Given the description of an element on the screen output the (x, y) to click on. 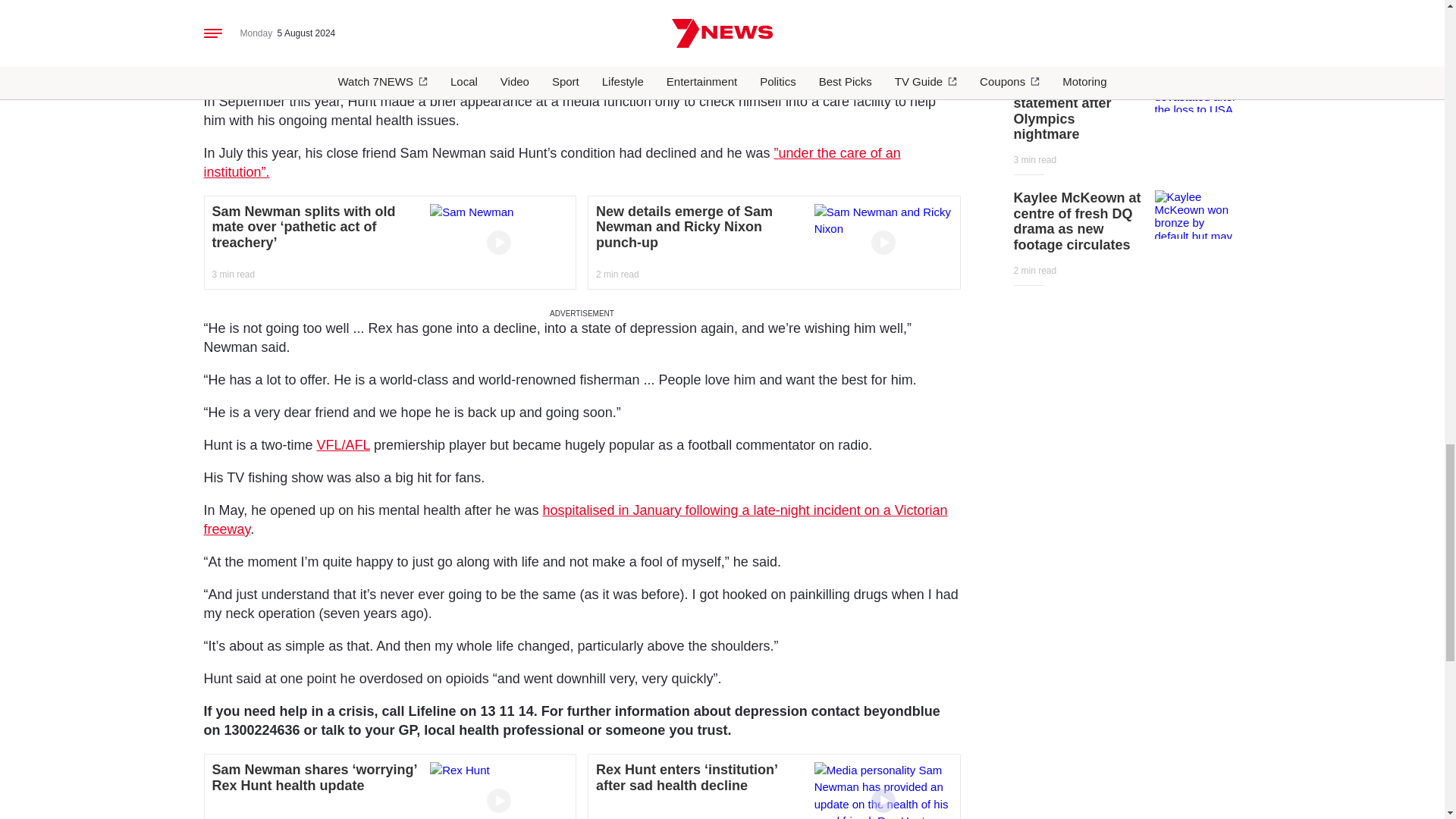
Video (498, 800)
Video (882, 242)
Video (882, 800)
Video (498, 242)
